Given the description of an element on the screen output the (x, y) to click on. 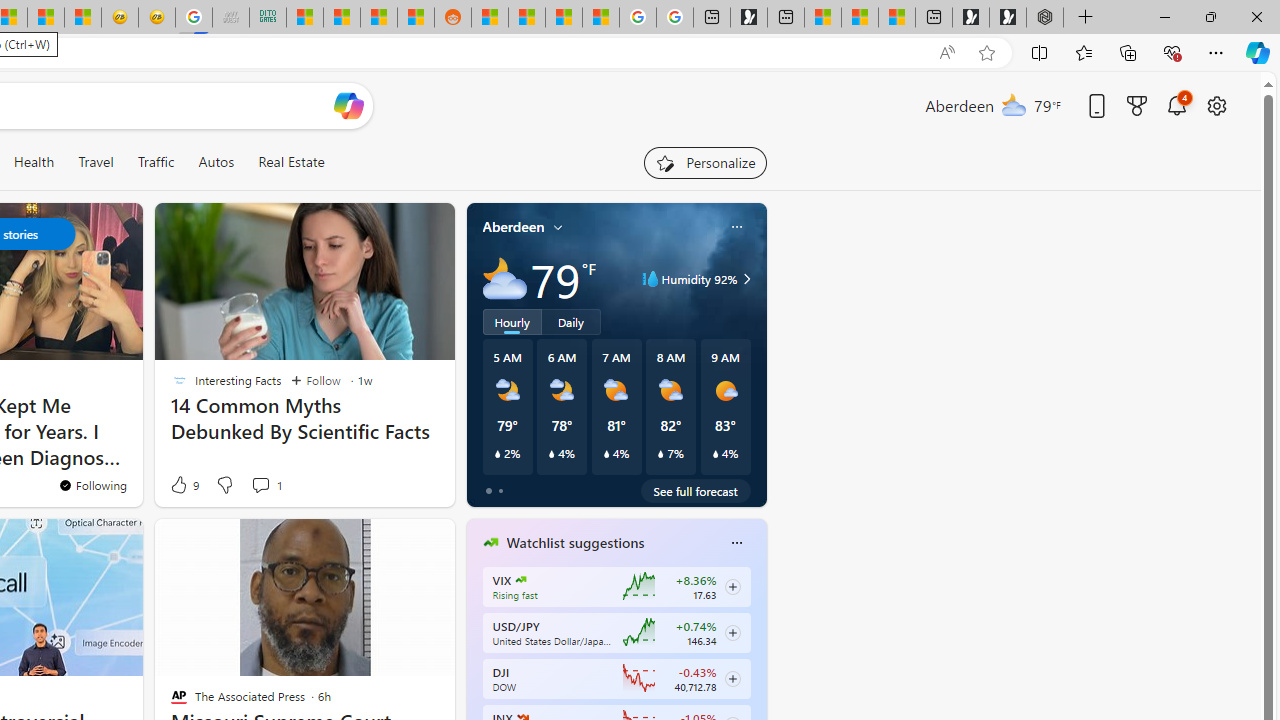
Autos (216, 162)
Follow (315, 380)
Autos (215, 161)
